Given the description of an element on the screen output the (x, y) to click on. 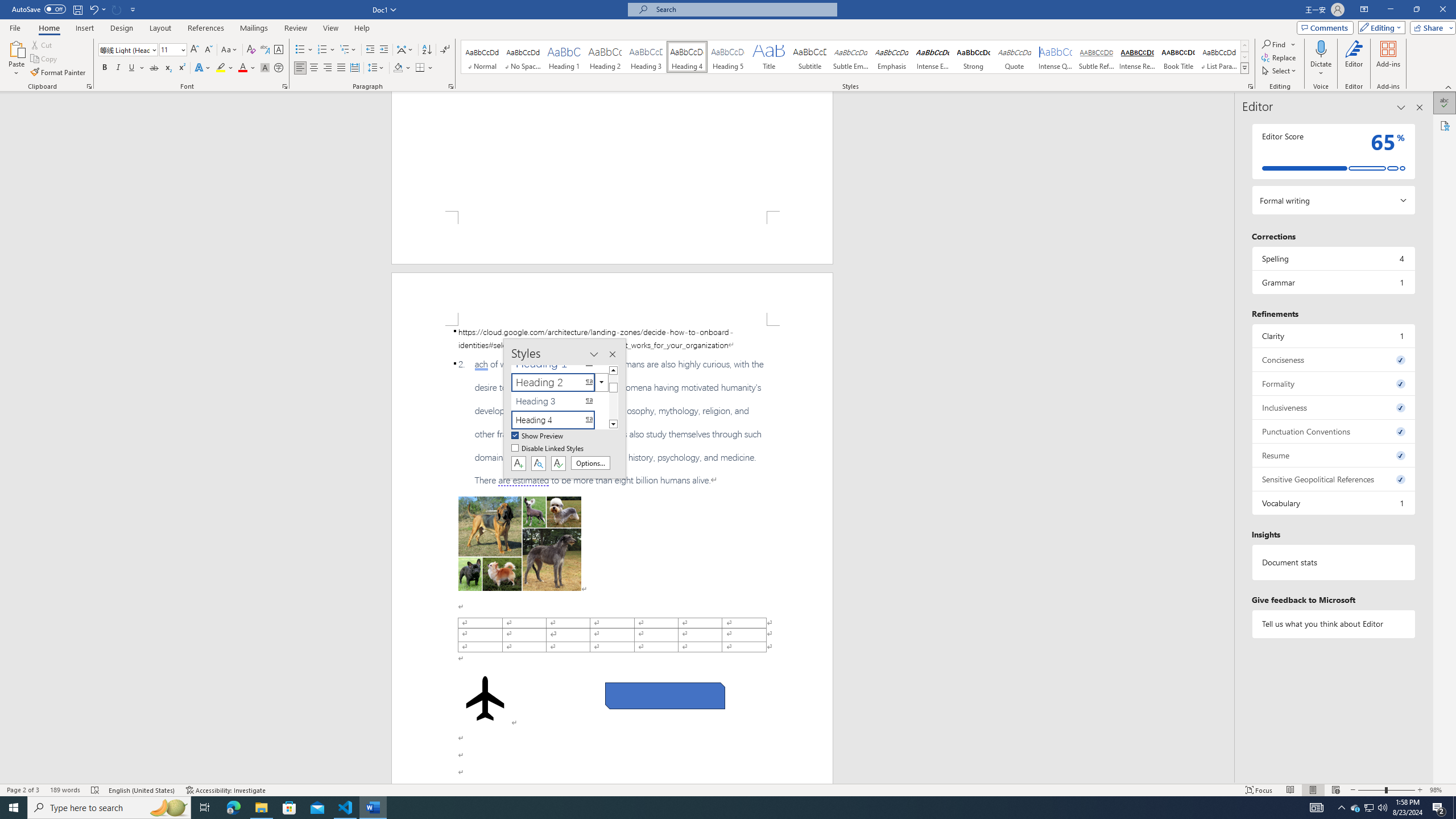
Subtitle (809, 56)
Accessibility (1444, 125)
Page 1 content (611, 151)
Spelling, 4 issues. Press space or enter to review items. (1333, 258)
